Given the description of an element on the screen output the (x, y) to click on. 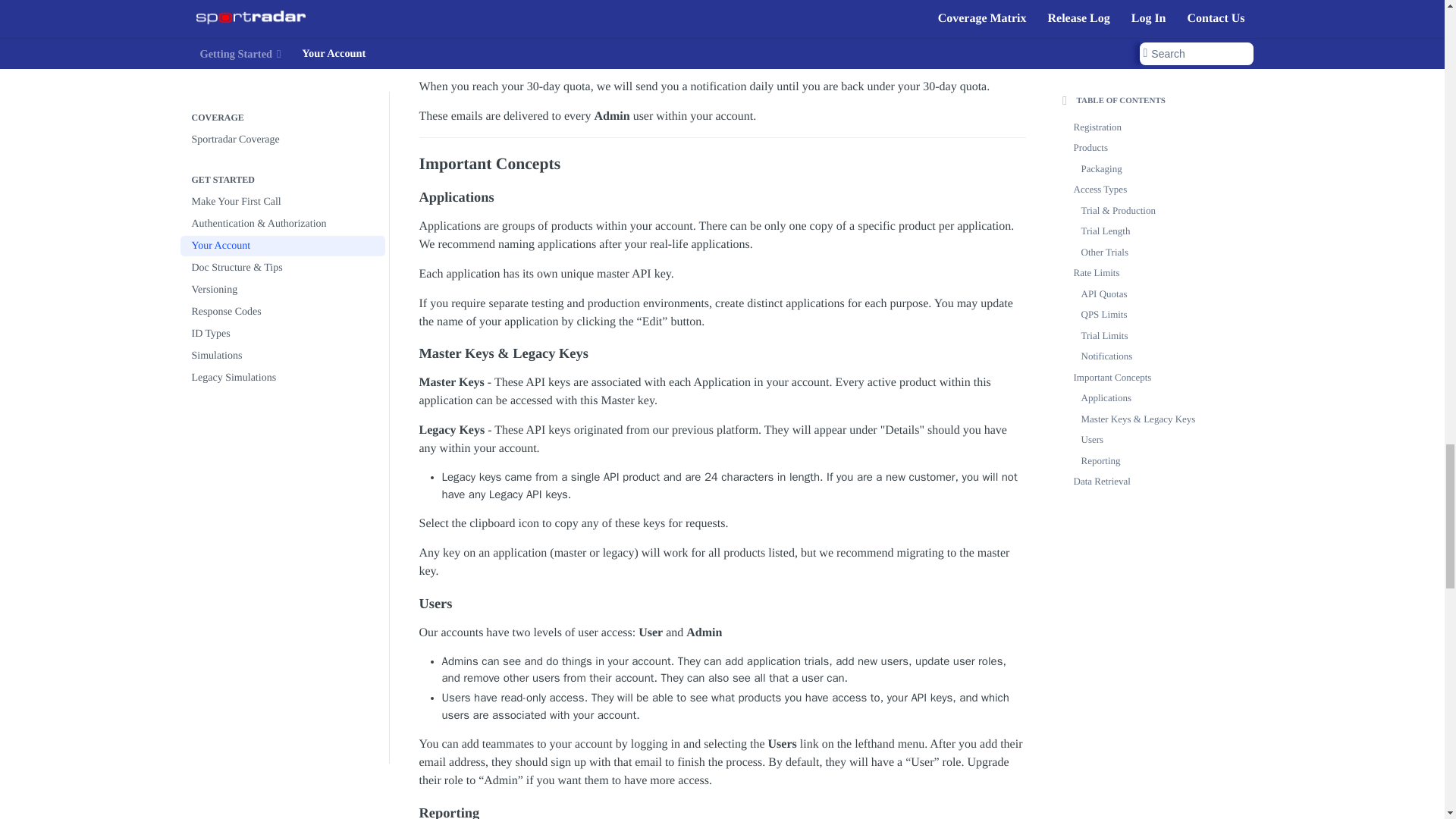
Users (722, 603)
Reporting (722, 811)
Notifications (722, 27)
Applications (722, 197)
Important Concepts (722, 163)
